Given the description of an element on the screen output the (x, y) to click on. 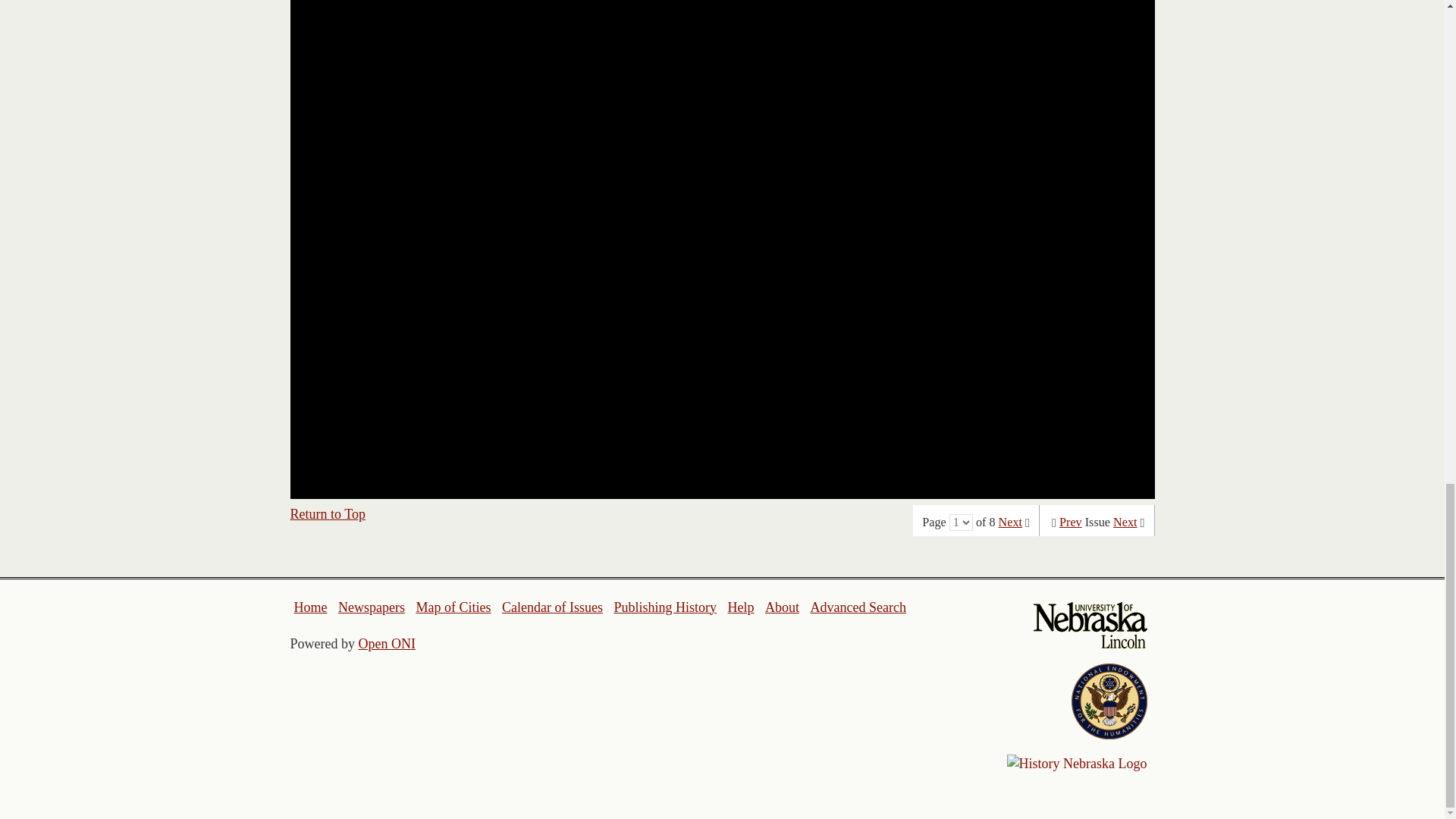
Next (1010, 522)
Calendar of Issues (552, 607)
Publishing History (664, 607)
Next (1125, 522)
Return to Top (327, 513)
Prev (1070, 522)
Home (310, 607)
About (782, 607)
Open ONI (386, 643)
Help (740, 607)
Newspapers (370, 607)
Advanced Search (857, 607)
Map of Cities (452, 607)
